Given the description of an element on the screen output the (x, y) to click on. 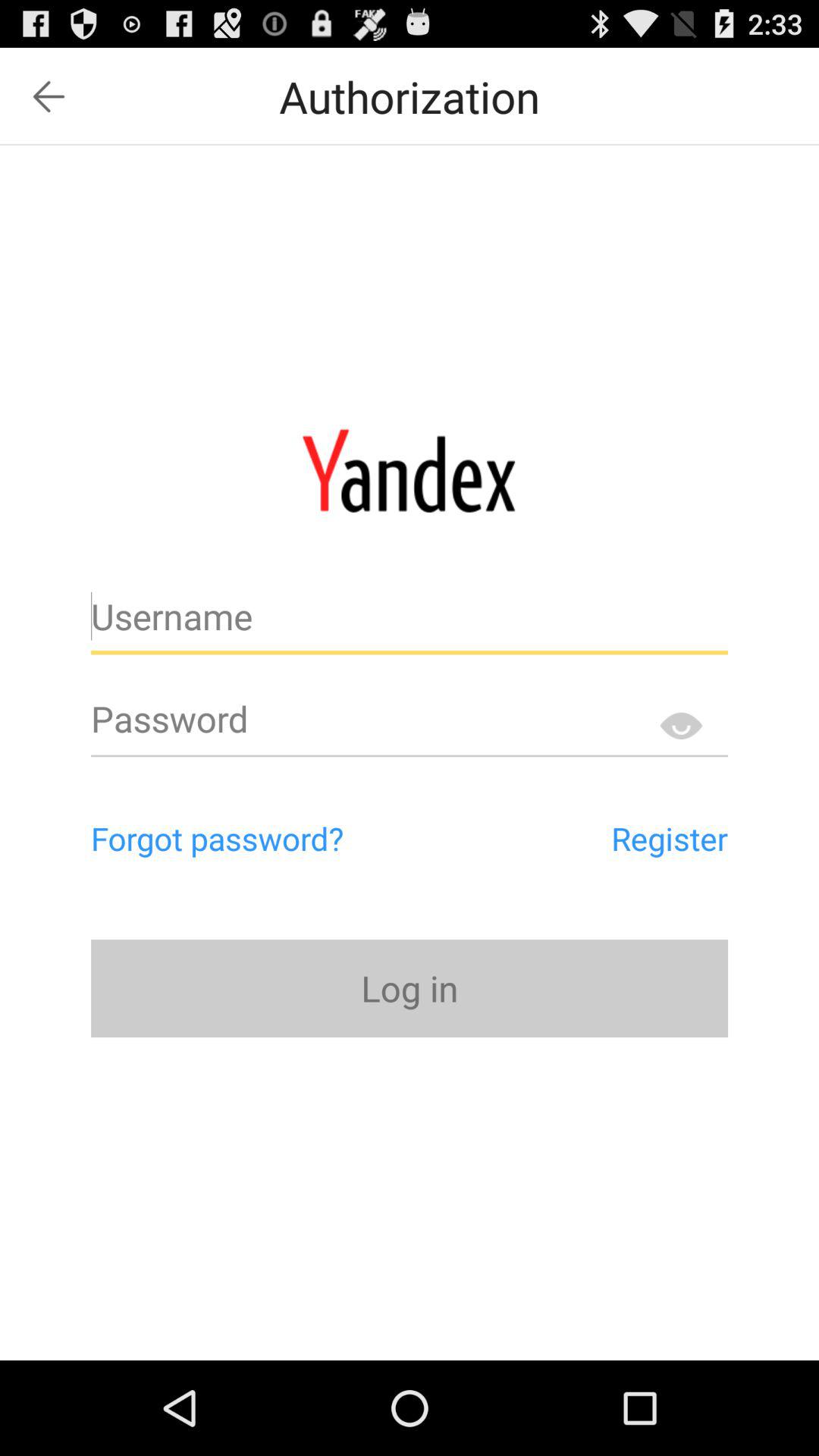
launch the register item (600, 837)
